Given the description of an element on the screen output the (x, y) to click on. 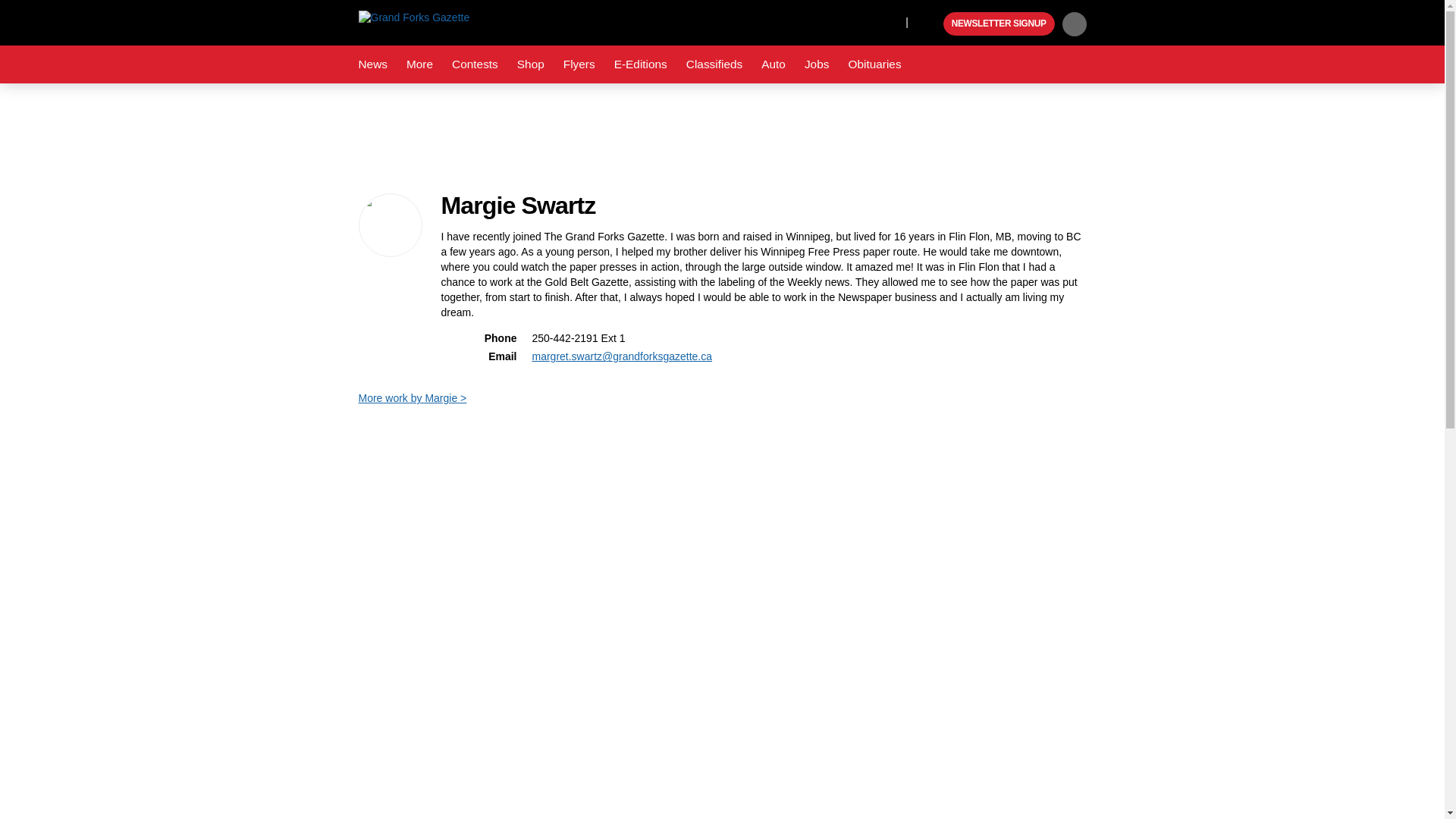
Play (929, 24)
News (372, 64)
Black Press Media (929, 24)
X (889, 21)
NEWSLETTER SIGNUP (998, 24)
